Given the description of an element on the screen output the (x, y) to click on. 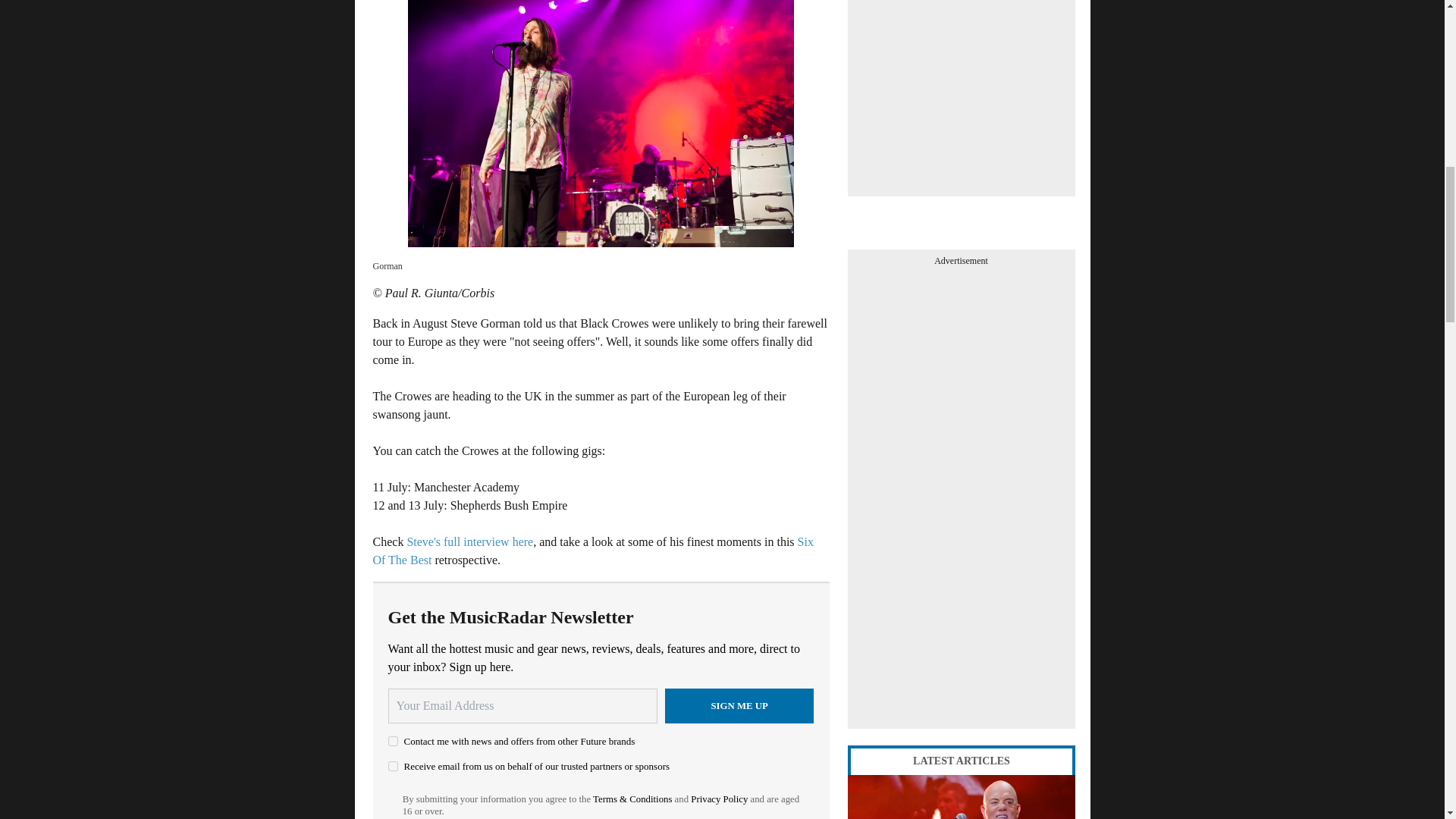
on (392, 741)
on (392, 766)
Sign me up (739, 705)
